Given the description of an element on the screen output the (x, y) to click on. 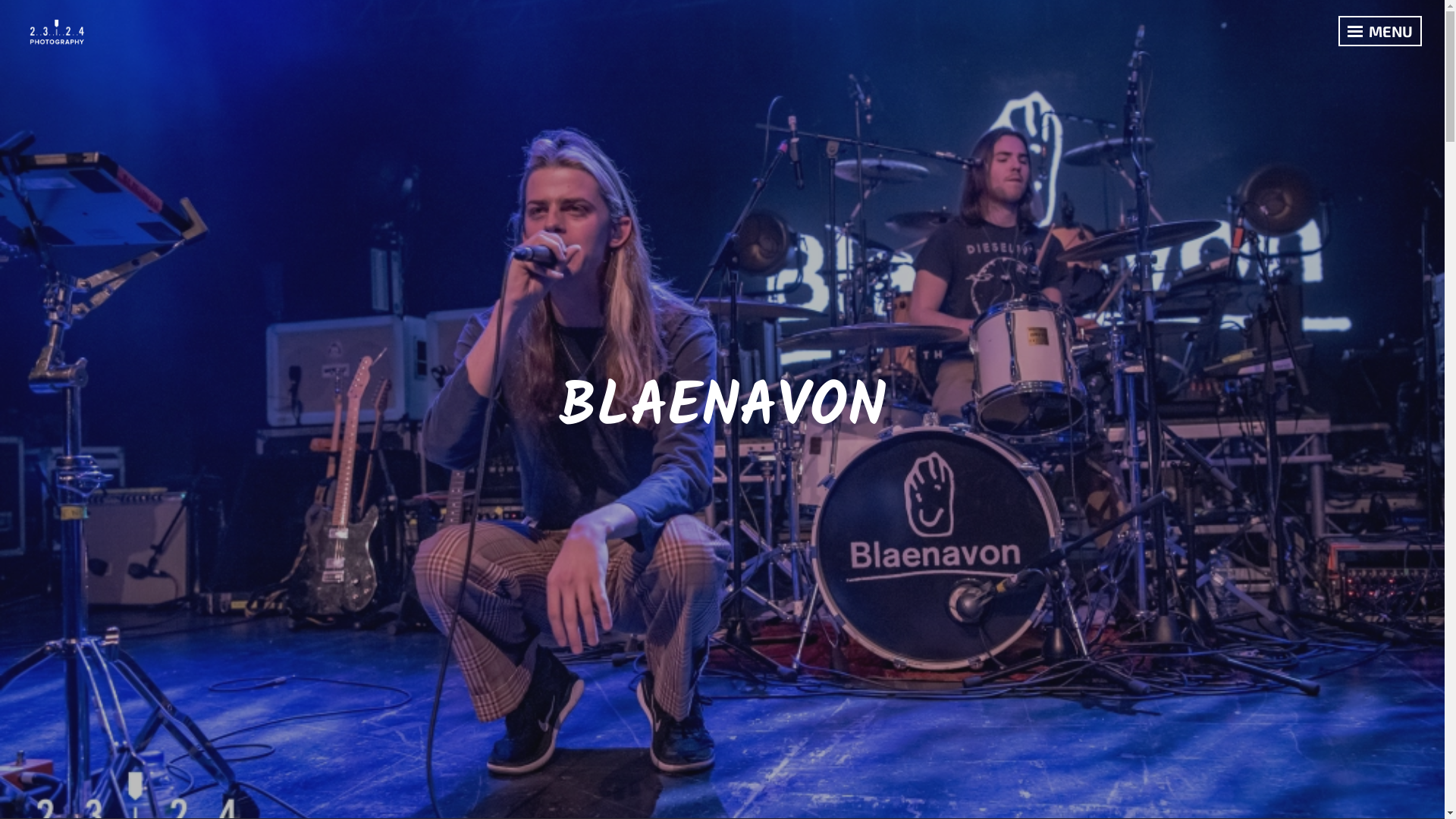
MENU Element type: text (1379, 30)
2324 PHOTOGRAPHY Element type: text (124, 24)
